Given the description of an element on the screen output the (x, y) to click on. 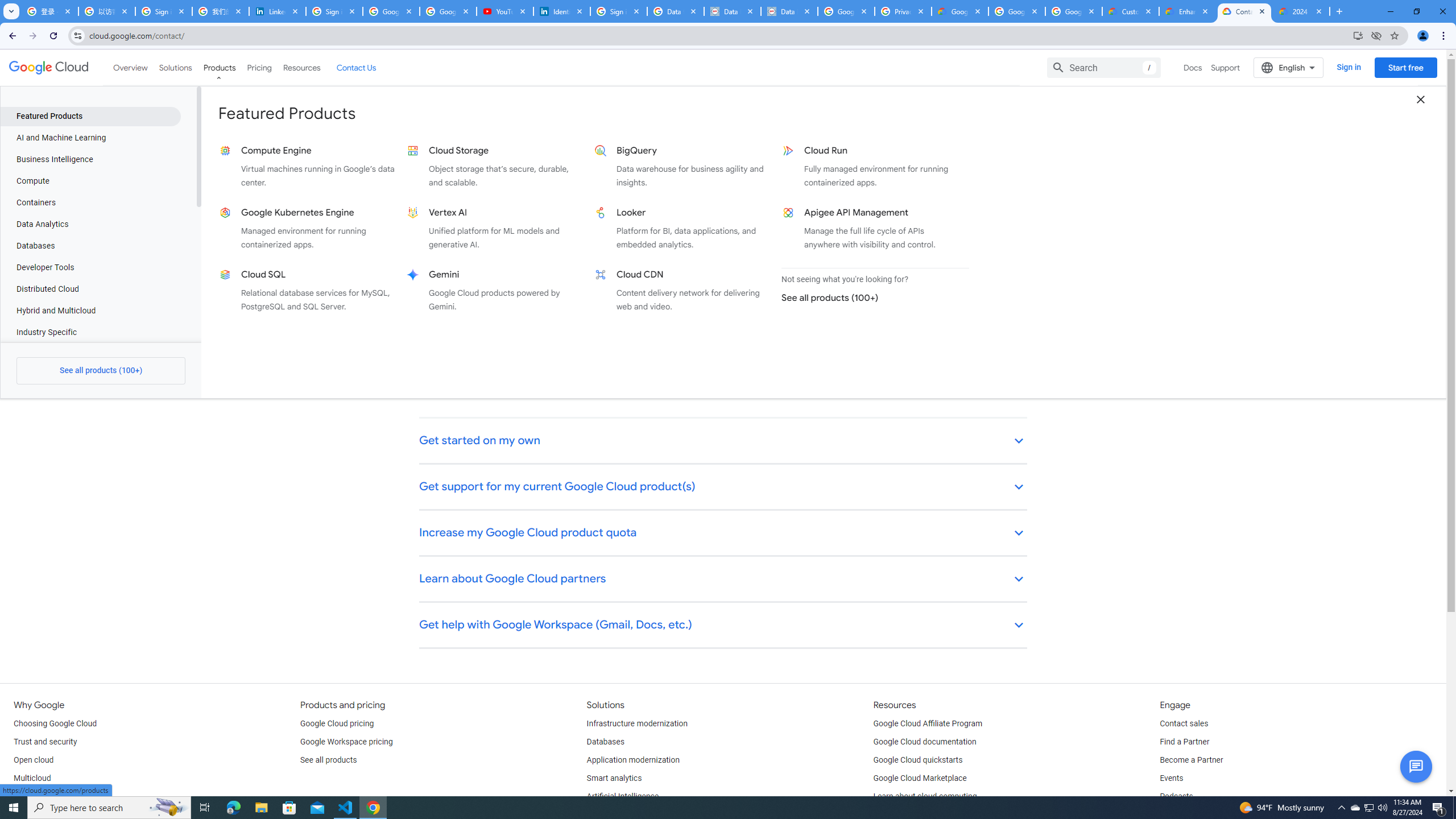
Pricing (259, 67)
Infrastructure modernization (637, 723)
Sign in - Google Accounts (163, 11)
Products (218, 67)
Button to activate chat (1416, 766)
Containers (90, 202)
Close dropdown menu (1420, 99)
Customer Care | Google Cloud (1130, 11)
Resources (301, 67)
